Given the description of an element on the screen output the (x, y) to click on. 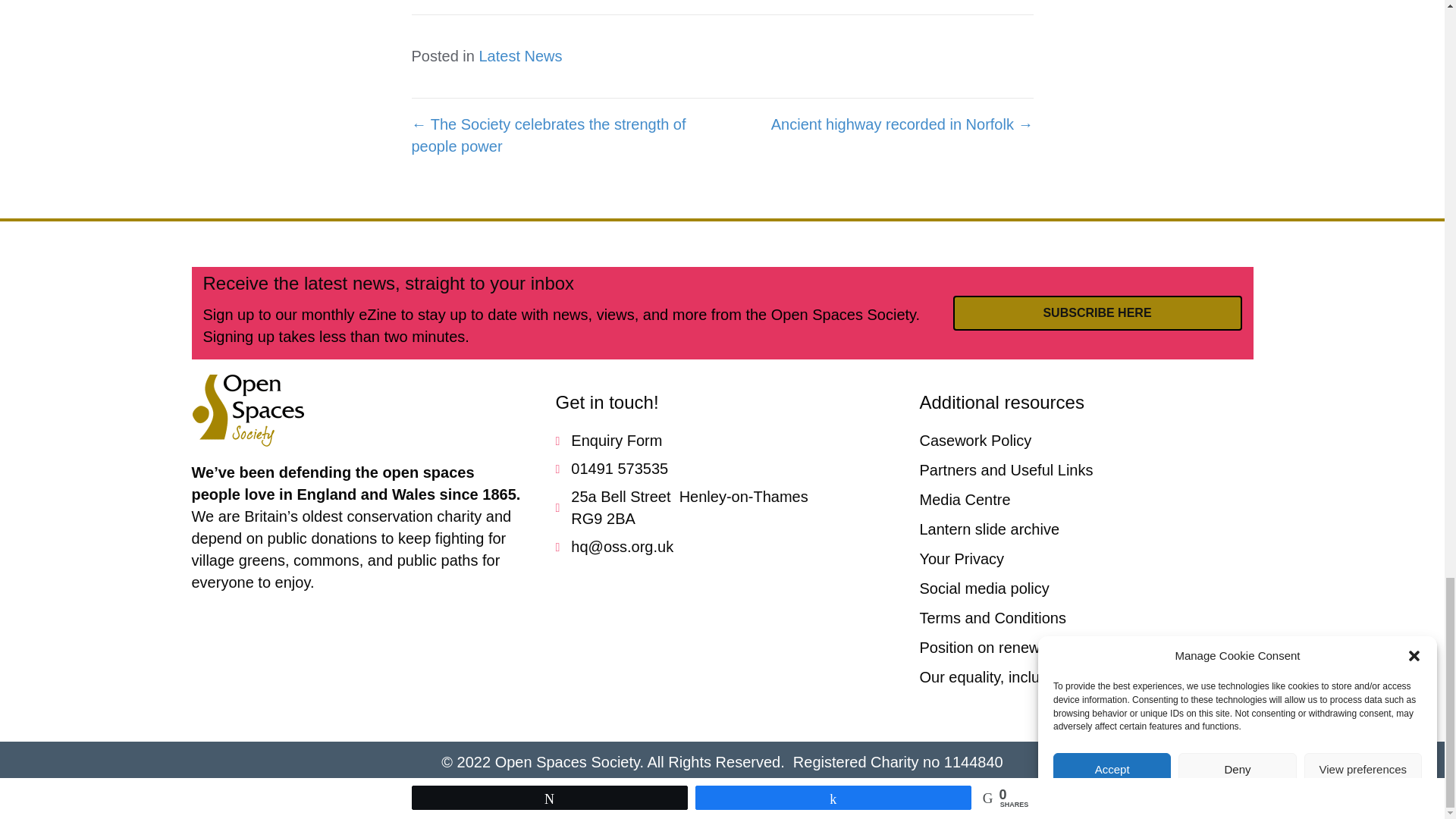
oss-logo (247, 410)
